Given the description of an element on the screen output the (x, y) to click on. 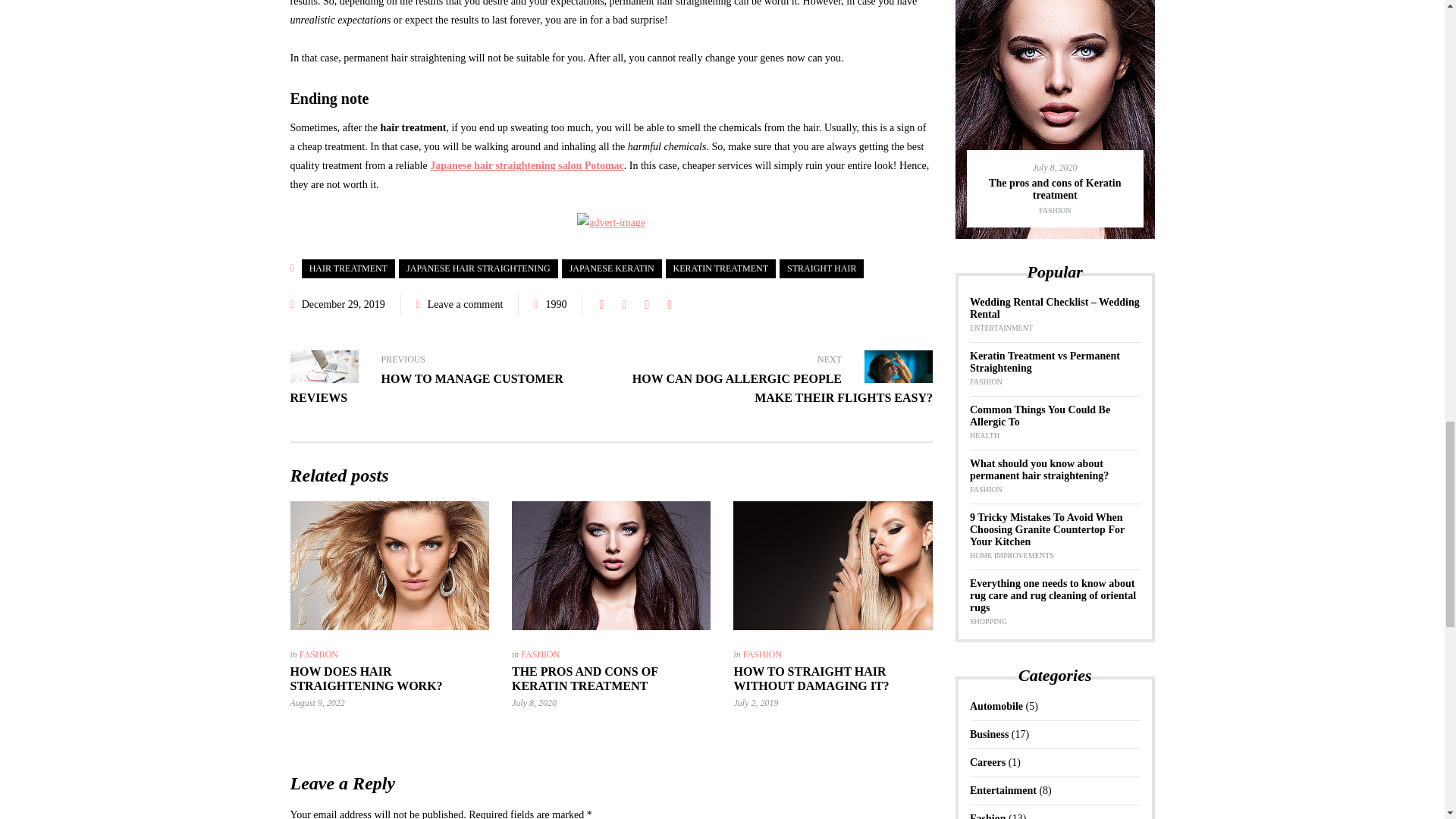
Post comments (460, 304)
Pin this (669, 304)
Post views (550, 304)
Share with Google Plus (646, 304)
Tweet this (623, 304)
Share this (600, 304)
